Given the description of an element on the screen output the (x, y) to click on. 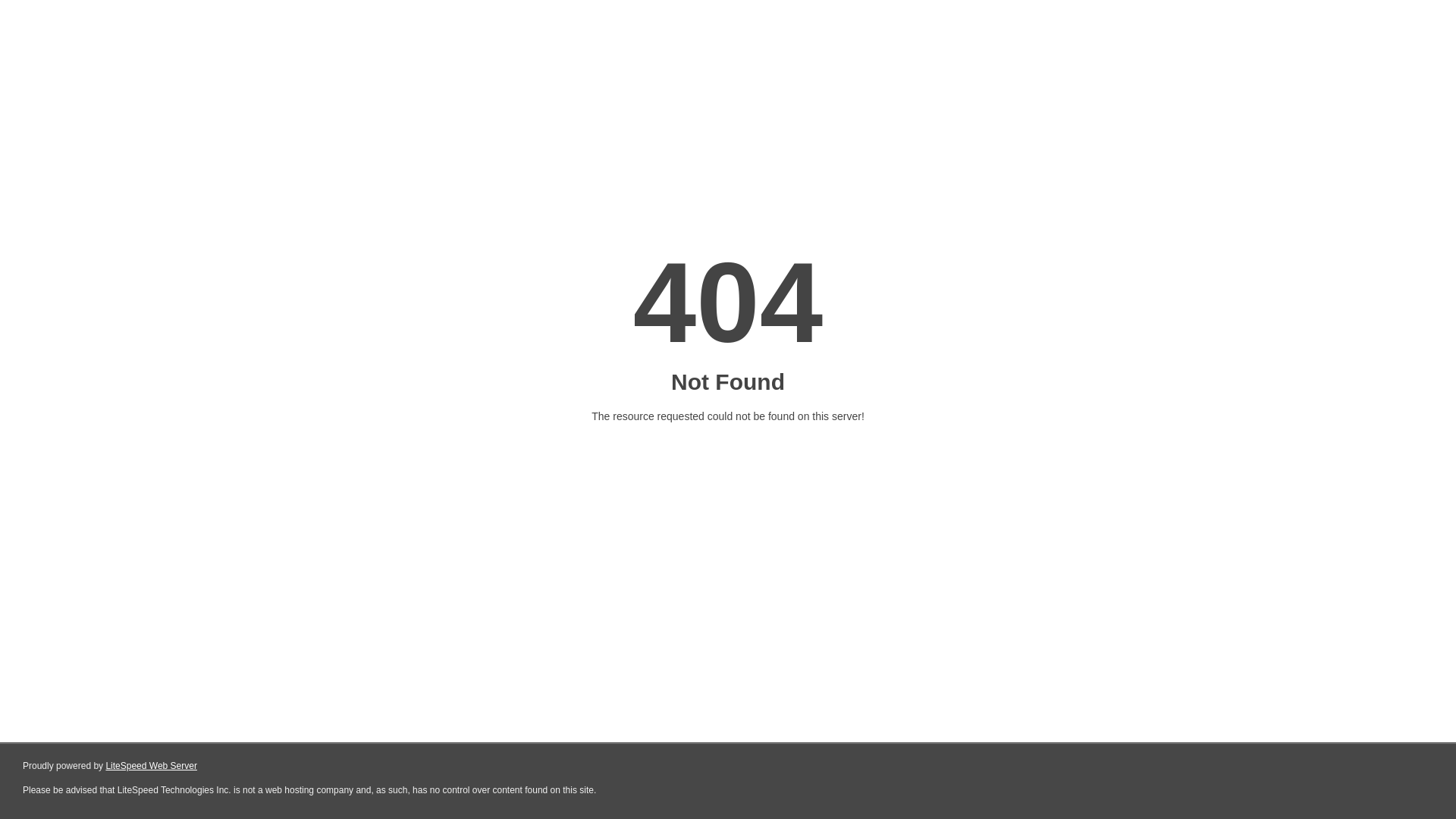
LiteSpeed Web Server Element type: text (151, 765)
